Given the description of an element on the screen output the (x, y) to click on. 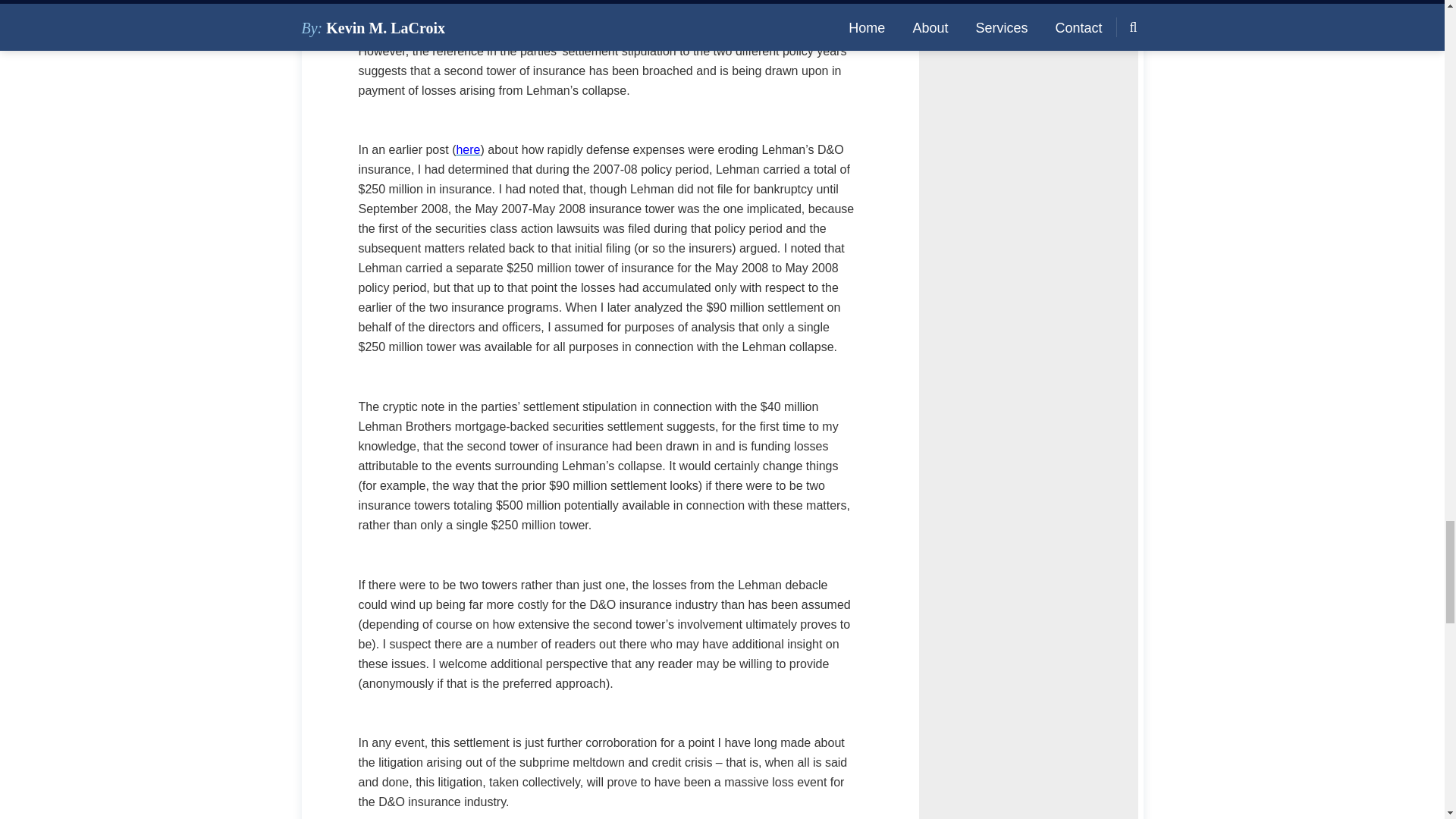
here (467, 149)
